Given the description of an element on the screen output the (x, y) to click on. 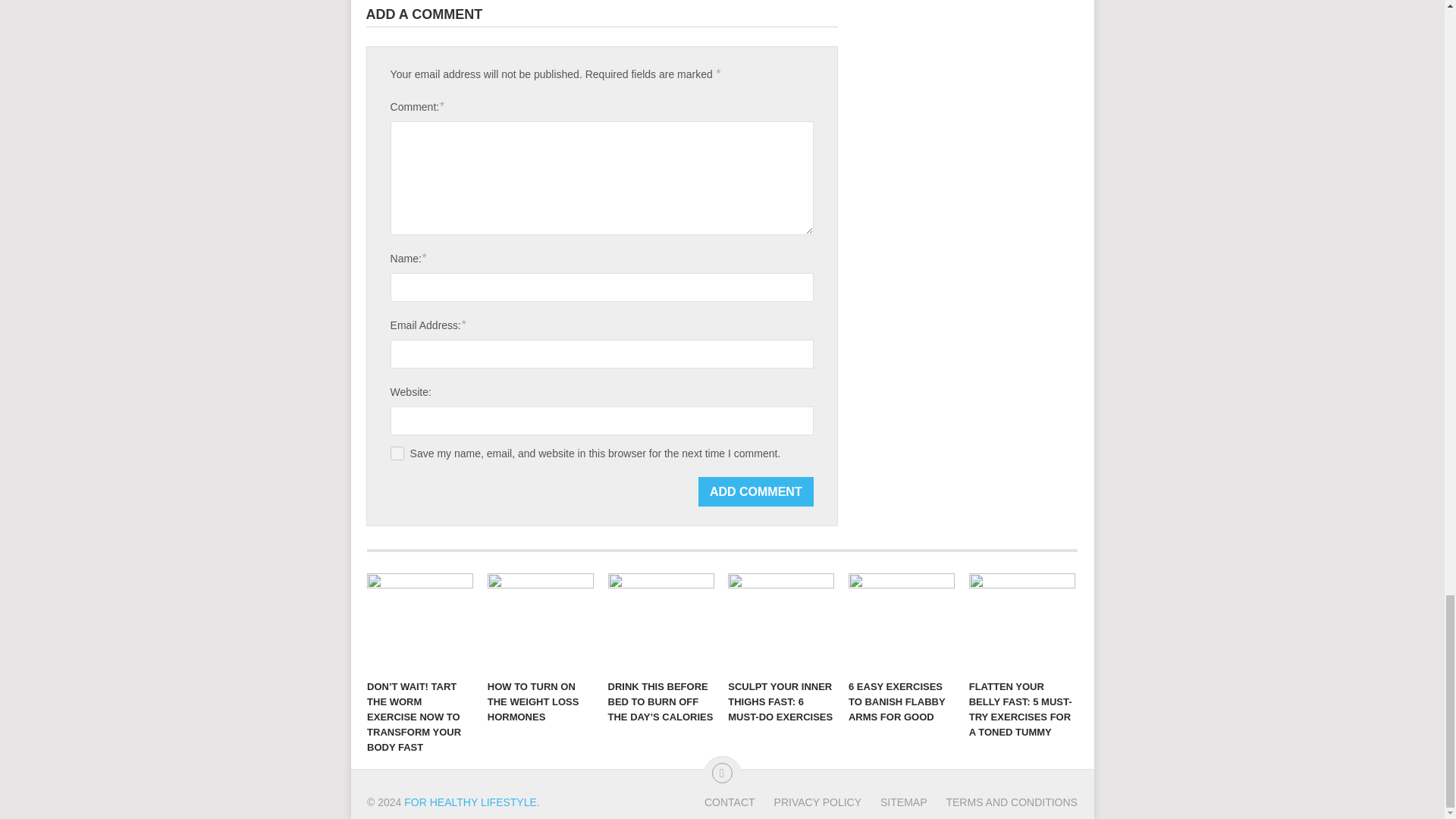
How to Turn On the Weight Loss Hormones (540, 622)
PRIVACY POLICY (808, 802)
Add Comment (755, 491)
6 EASY EXERCISES TO BANISH FLABBY ARMS FOR GOOD (901, 622)
yes (397, 453)
FOR HEALTHY LIFESTYLE (470, 802)
HOW TO TURN ON THE WEIGHT LOSS HORMONES (540, 622)
SITEMAP (893, 802)
